Given the description of an element on the screen output the (x, y) to click on. 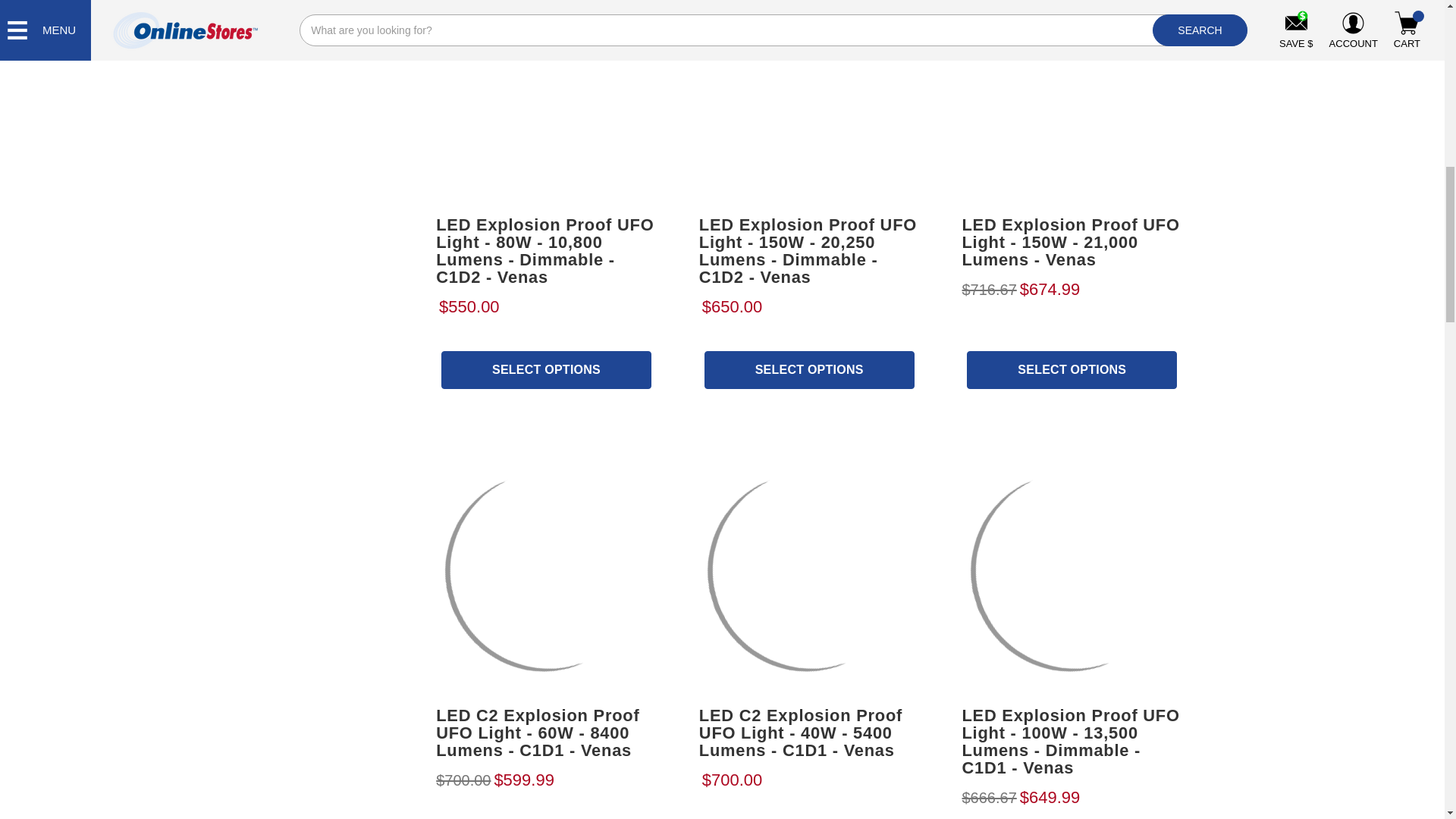
LED Explosion Proof UFO Light - 150W - 21,000 Lumens - Venas (1072, 101)
